Given the description of an element on the screen output the (x, y) to click on. 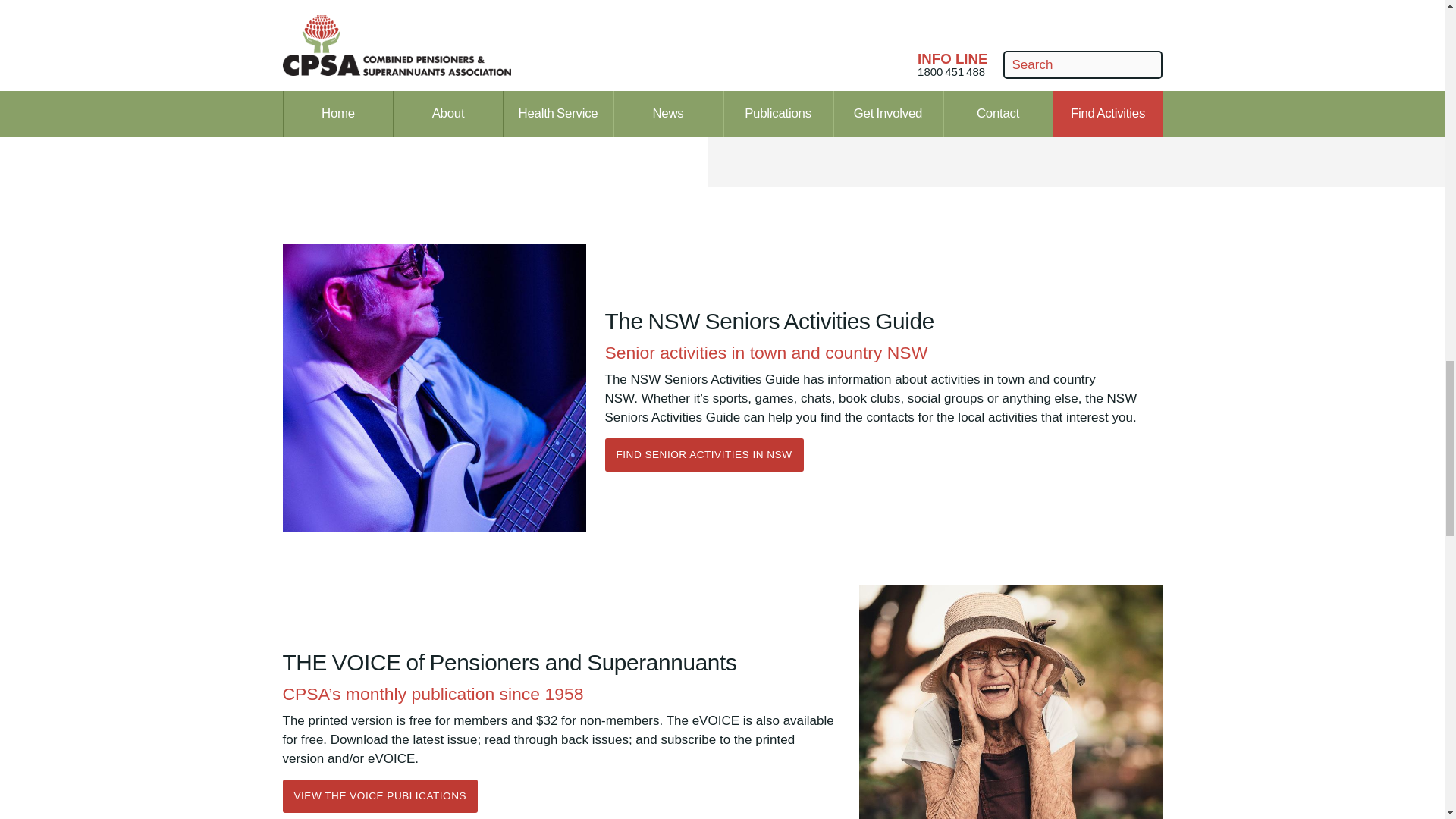
FIND SENIOR ACTIVITIES IN NSW (704, 454)
click here (553, 53)
BOOK A ZOOM SESSION (357, 110)
0404 548 063 (321, 72)
